Given the description of an element on the screen output the (x, y) to click on. 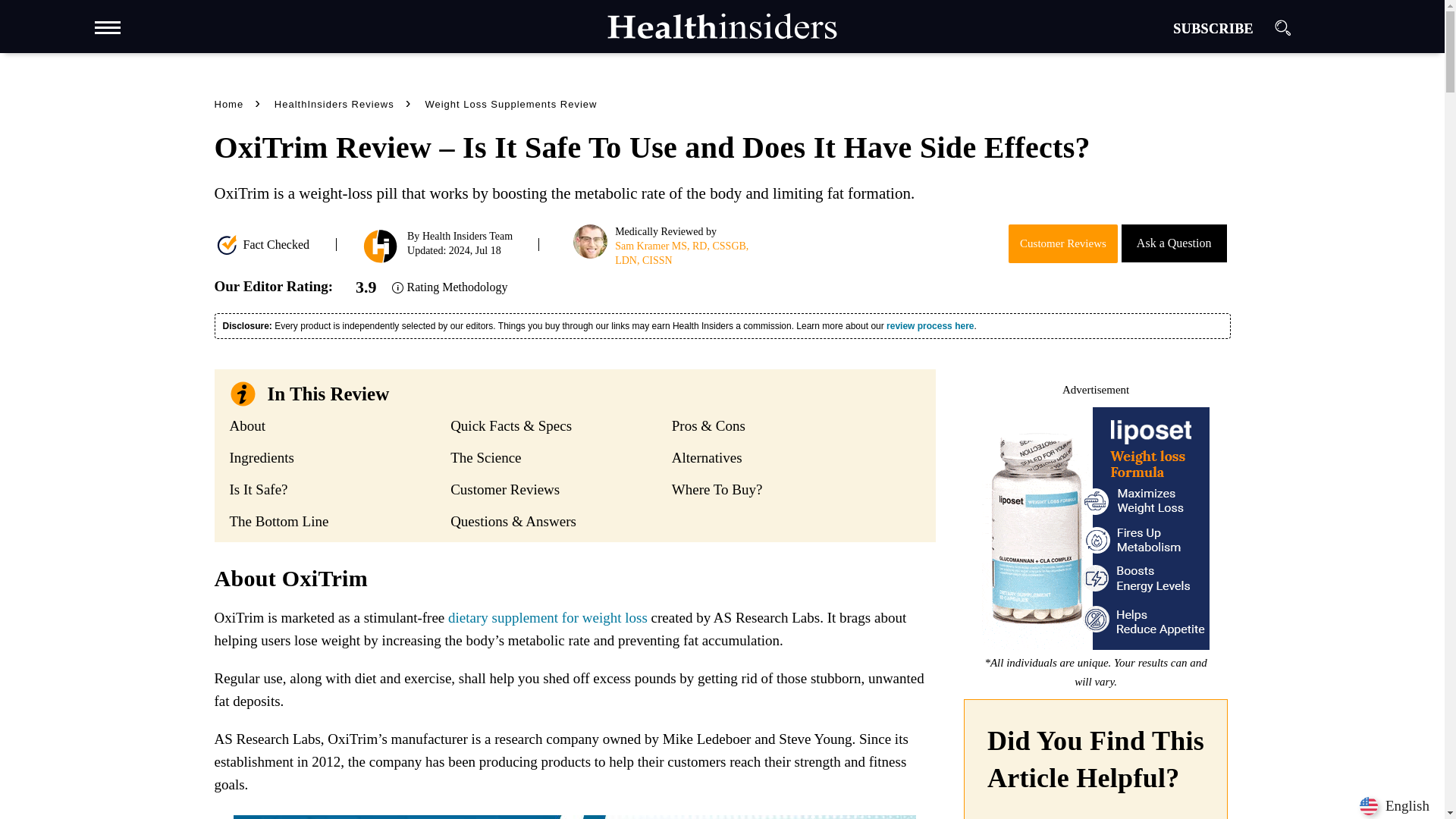
HealthInsiders Reviews (349, 103)
Home (242, 103)
Rating Methodology (449, 286)
SUBSCRIBE (1213, 28)
Weight Loss Supplements Review (510, 104)
